Given the description of an element on the screen output the (x, y) to click on. 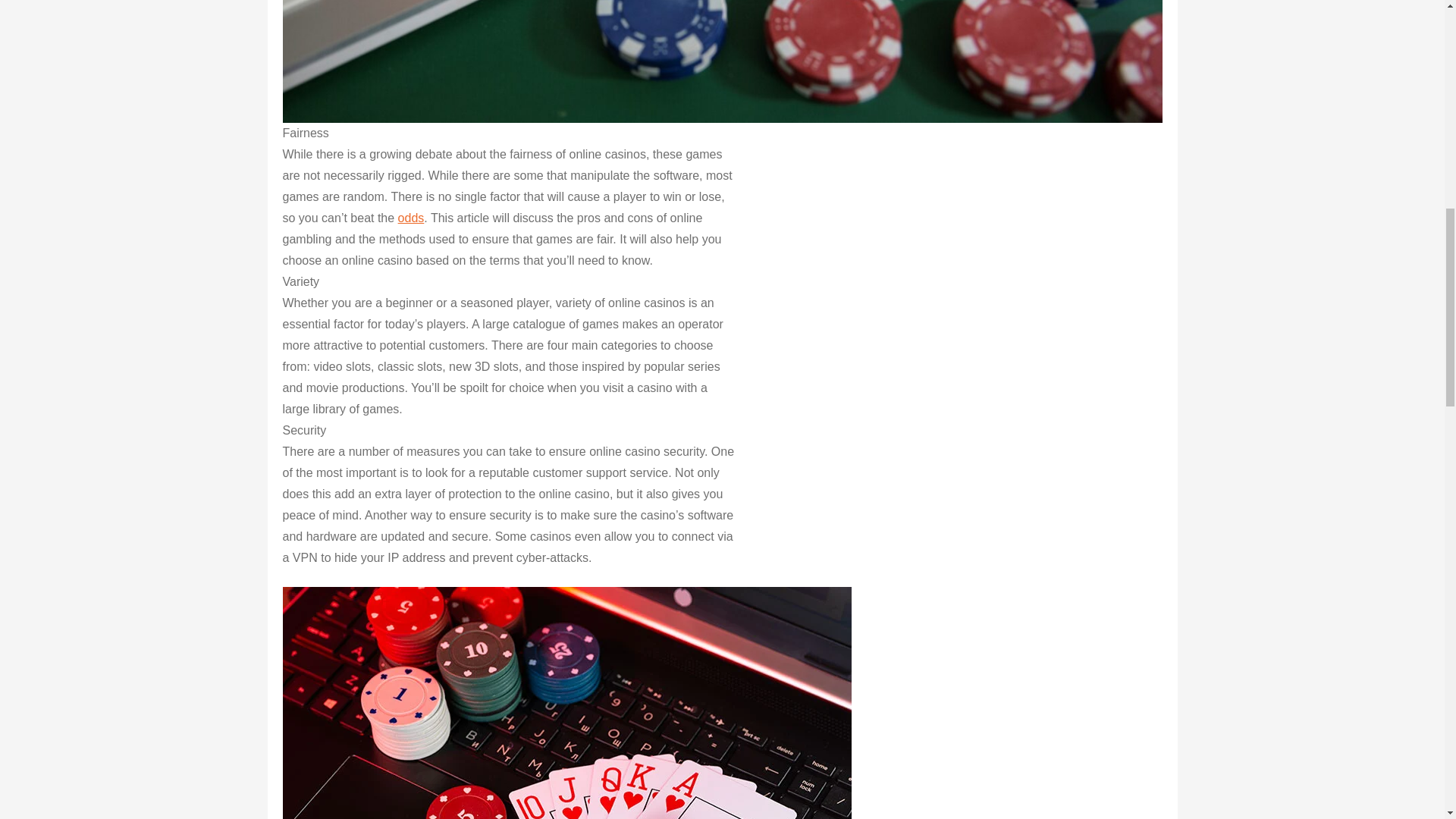
odds (411, 217)
